Given the description of an element on the screen output the (x, y) to click on. 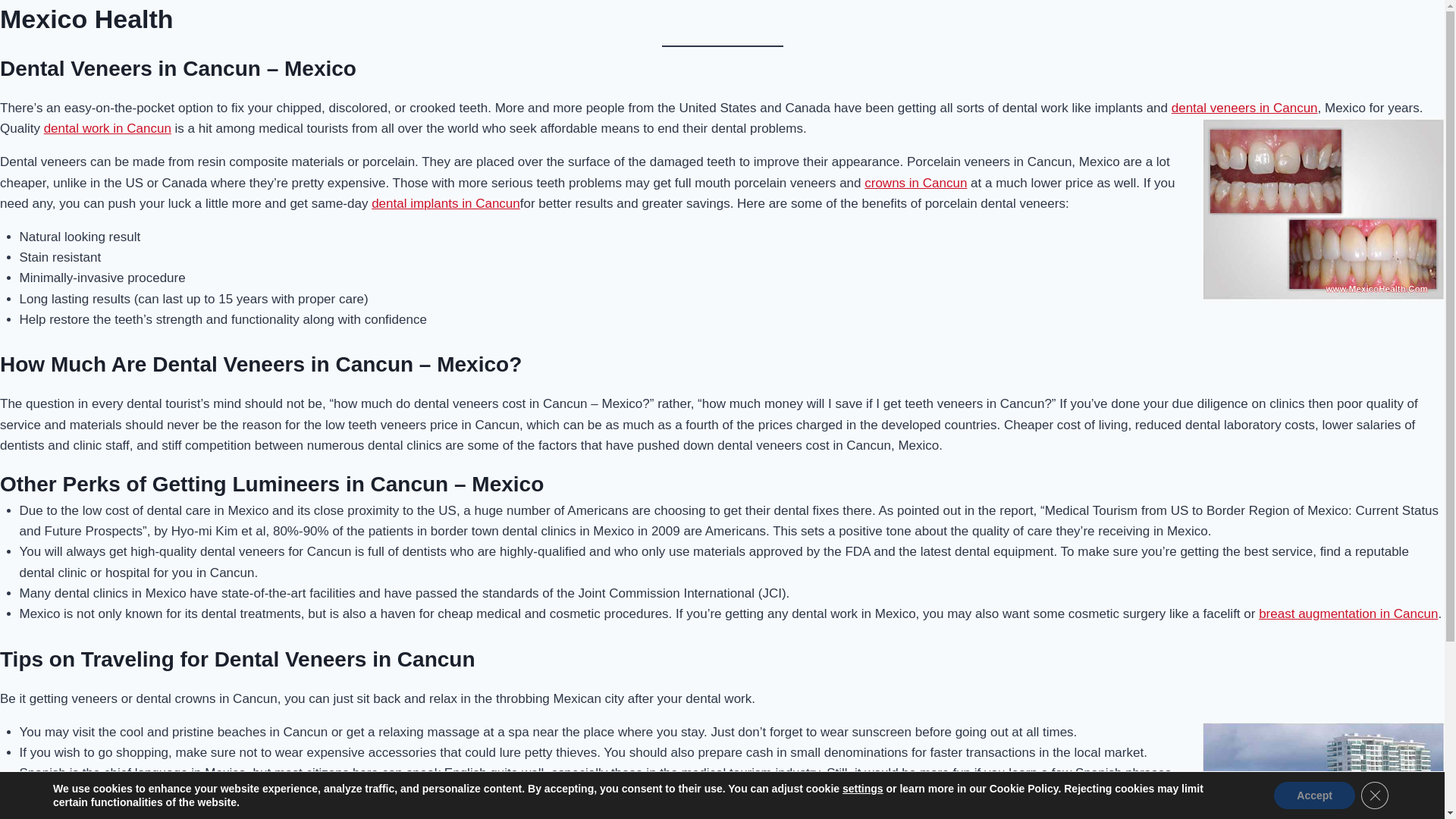
dental veneers in Cancun (1244, 107)
Dental work in Cancun (107, 128)
crowns in Cancun (915, 183)
Mexico Health (86, 18)
breast augmentation in Cancun (1348, 613)
Dental crowns in Cancun  (915, 183)
Accept (1314, 795)
Dental veneers in Cancun (1244, 107)
dental work in Cancun (107, 128)
Breast augmentation in Cancun  (1348, 613)
Dental implants in Cancun (445, 203)
dental implants in Cancun (445, 203)
Close GDPR Cookie Banner (1375, 795)
